Given the description of an element on the screen output the (x, y) to click on. 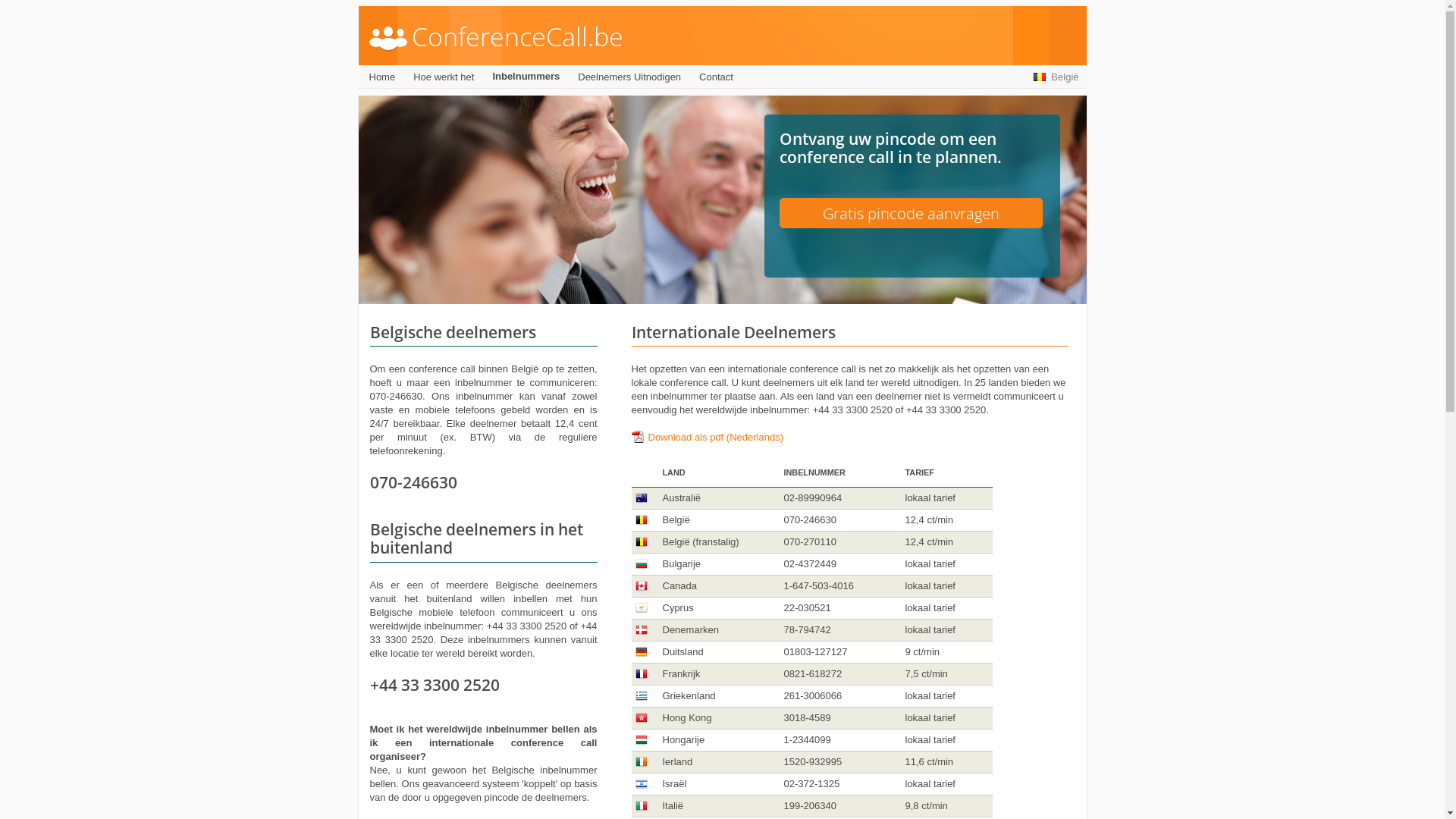
Gratis pincode aanvragen Element type: text (910, 212)
Download als pdf (Nederlands) Element type: text (706, 436)
Contact Element type: text (715, 77)
Deelnemers Uitnodigen Element type: text (629, 77)
Home Element type: text (381, 77)
Hoe werkt het Element type: text (443, 77)
Inbelnummers Element type: text (525, 76)
